Given the description of an element on the screen output the (x, y) to click on. 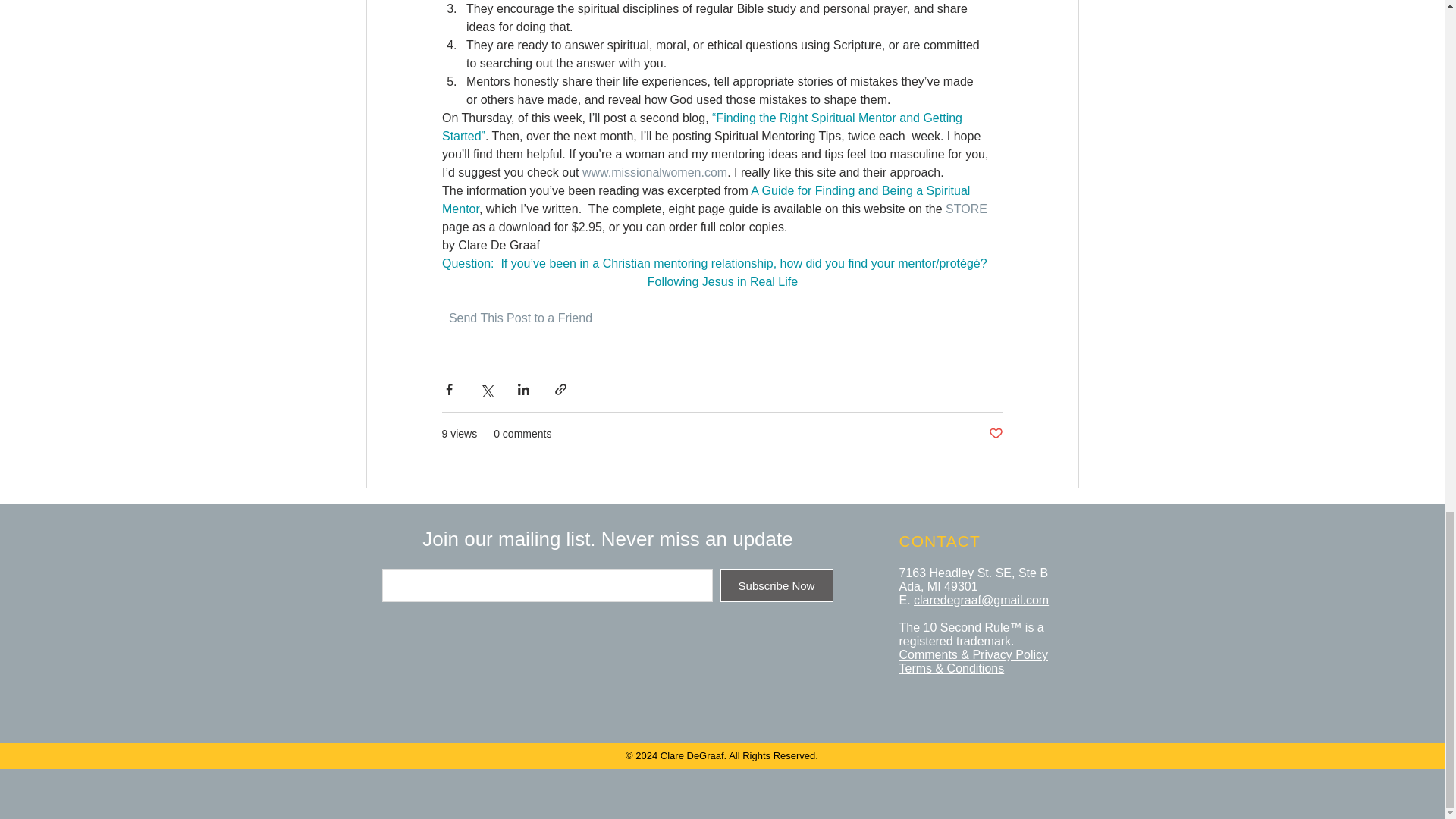
STORE (965, 208)
Post not marked as liked (995, 433)
Send This Post to a Friend (519, 318)
www.missionalwomen.com (654, 172)
Subscribe Now (776, 584)
